Given the description of an element on the screen output the (x, y) to click on. 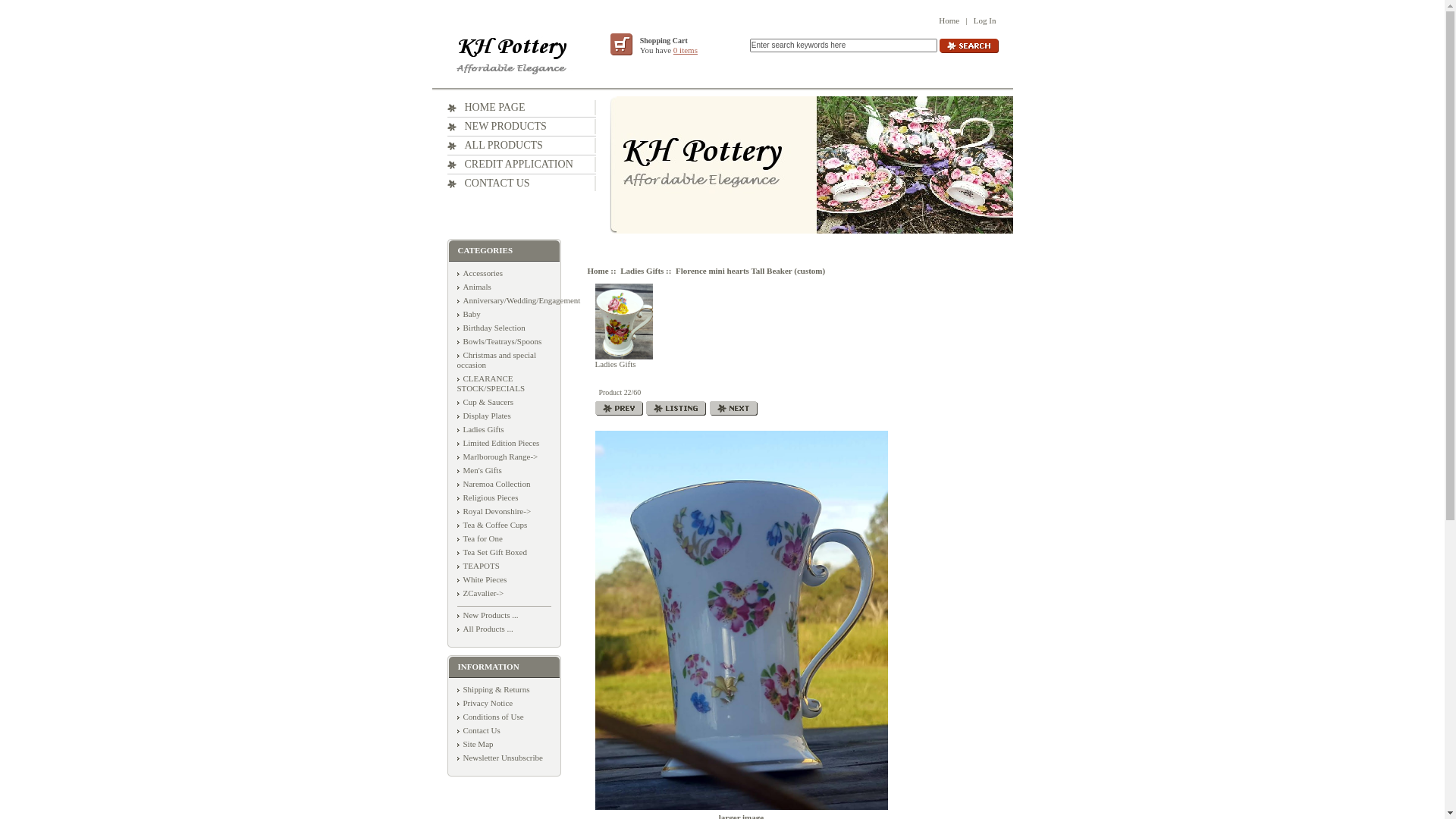
 Ladies Gifts  Element type: hover (623, 321)
TEAPOTS Element type: text (477, 565)
 Florence mini hearts Tall Beaker (custom)  Element type: hover (740, 619)
Men's Gifts Element type: text (478, 469)
Accessories Element type: text (479, 272)
NEW PRODUCTS Element type: text (496, 125)
 Previous  Element type: hover (618, 408)
Conditions of Use Element type: text (489, 716)
CONTACT US Element type: text (488, 182)
CREDIT APPLICATION Element type: text (510, 163)
Christmas and special occasion Element type: text (496, 359)
Animals Element type: text (473, 286)
Privacy Notice Element type: text (484, 702)
Cup & Saucers Element type: text (484, 401)
Tea for One Element type: text (479, 537)
Naremoa Collection Element type: text (493, 483)
Tea & Coffee Cups Element type: text (491, 524)
Religious Pieces Element type: text (486, 497)
Home Element type: text (948, 20)
Limited Edition Pieces Element type: text (497, 442)
Newsletter Unsubscribe Element type: text (499, 757)
HOME PAGE Element type: text (486, 106)
 Search  Element type: hover (967, 45)
Marlborough Range-> Element type: text (496, 456)
Ladies Gifts Element type: text (641, 270)
Ladies Gifts Element type: text (623, 325)
Contact Us Element type: text (477, 729)
Baby Element type: text (468, 313)
White Pieces Element type: text (481, 578)
 Return to the Product List  Element type: hover (676, 408)
Display Plates Element type: text (483, 415)
New Products ... Element type: text (486, 614)
Log In Element type: text (984, 20)
ZCavalier-> Element type: text (479, 592)
ALL PRODUCTS Element type: text (494, 144)
Shipping & Returns Element type: text (492, 688)
Anniversary/Wedding/Engagement Element type: text (518, 299)
CLEARANCE STOCK/SPECIALS Element type: text (490, 382)
Birthday Selection Element type: text (490, 327)
0 items Element type: text (685, 49)
Bowls/Teatrays/Spoons Element type: text (498, 340)
Royal Devonshire-> Element type: text (493, 510)
Site Map Element type: text (474, 743)
Ladies Gifts Element type: text (479, 428)
Tea Set Gift Boxed Element type: text (491, 551)
 Next  Element type: hover (733, 408)
All Products ... Element type: text (484, 628)
Home Element type: text (597, 270)
